Given the description of an element on the screen output the (x, y) to click on. 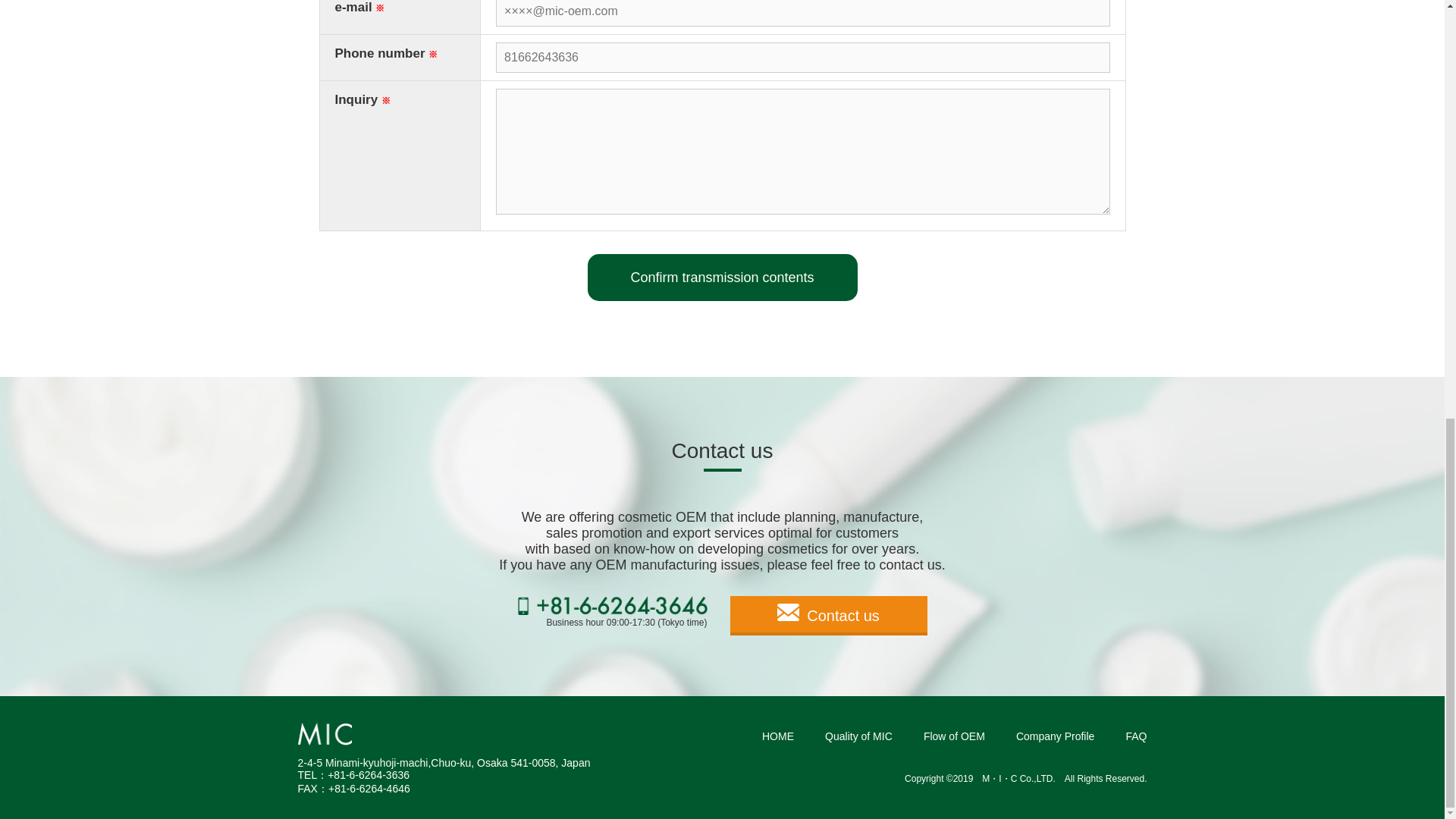
Company Profile (1055, 736)
HOME (777, 736)
Flow of OEM (954, 736)
FAQ (1136, 736)
Contact us (827, 615)
Quality of MIC (858, 736)
